Given the description of an element on the screen output the (x, y) to click on. 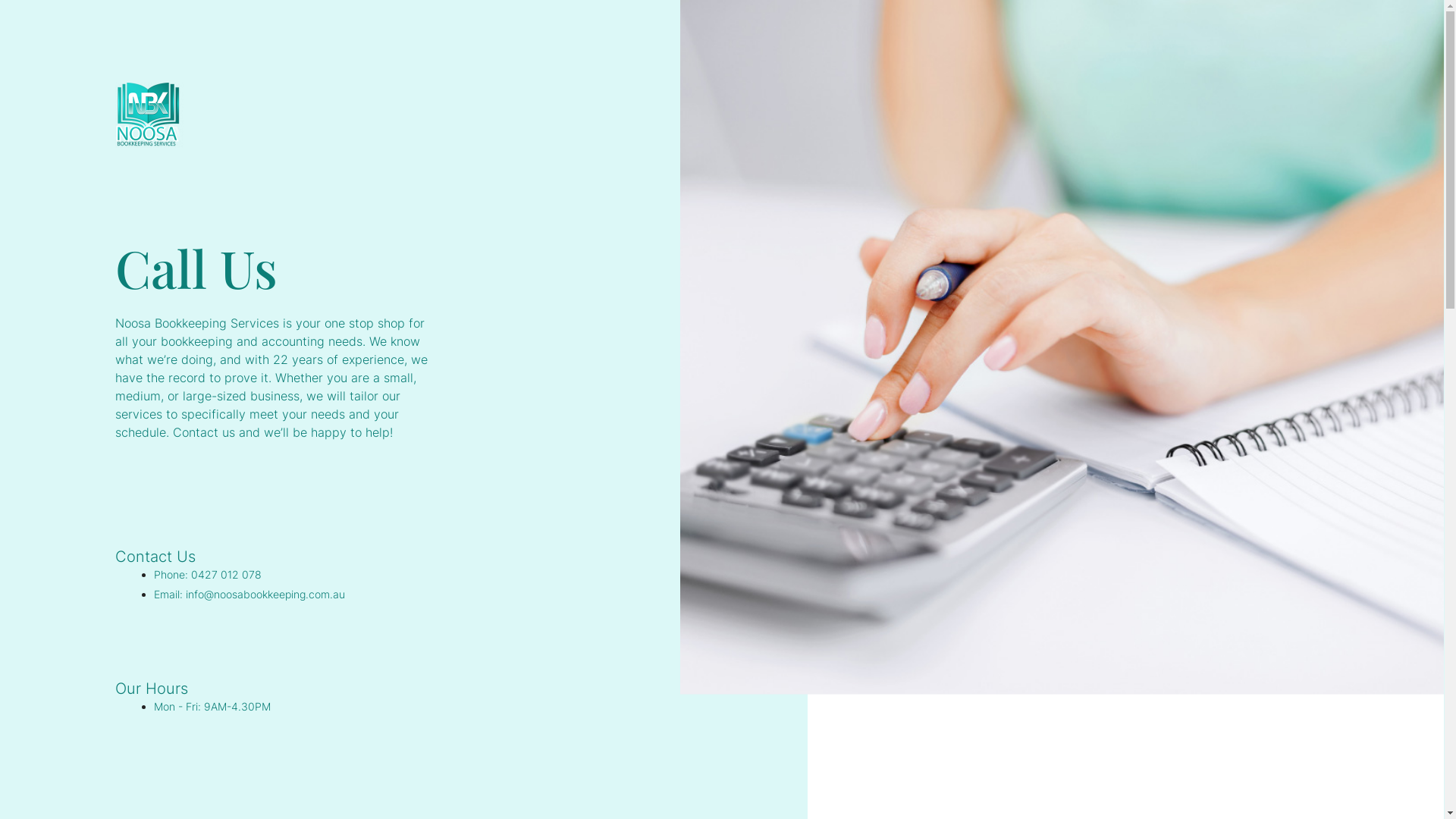
Email: info@noosabookkeeping.com.au Element type: text (249, 593)
Noosa-Bookkeeping-Services-copy Element type: hover (149, 114)
Phone: 0427 012 078 Element type: text (207, 573)
